Given the description of an element on the screen output the (x, y) to click on. 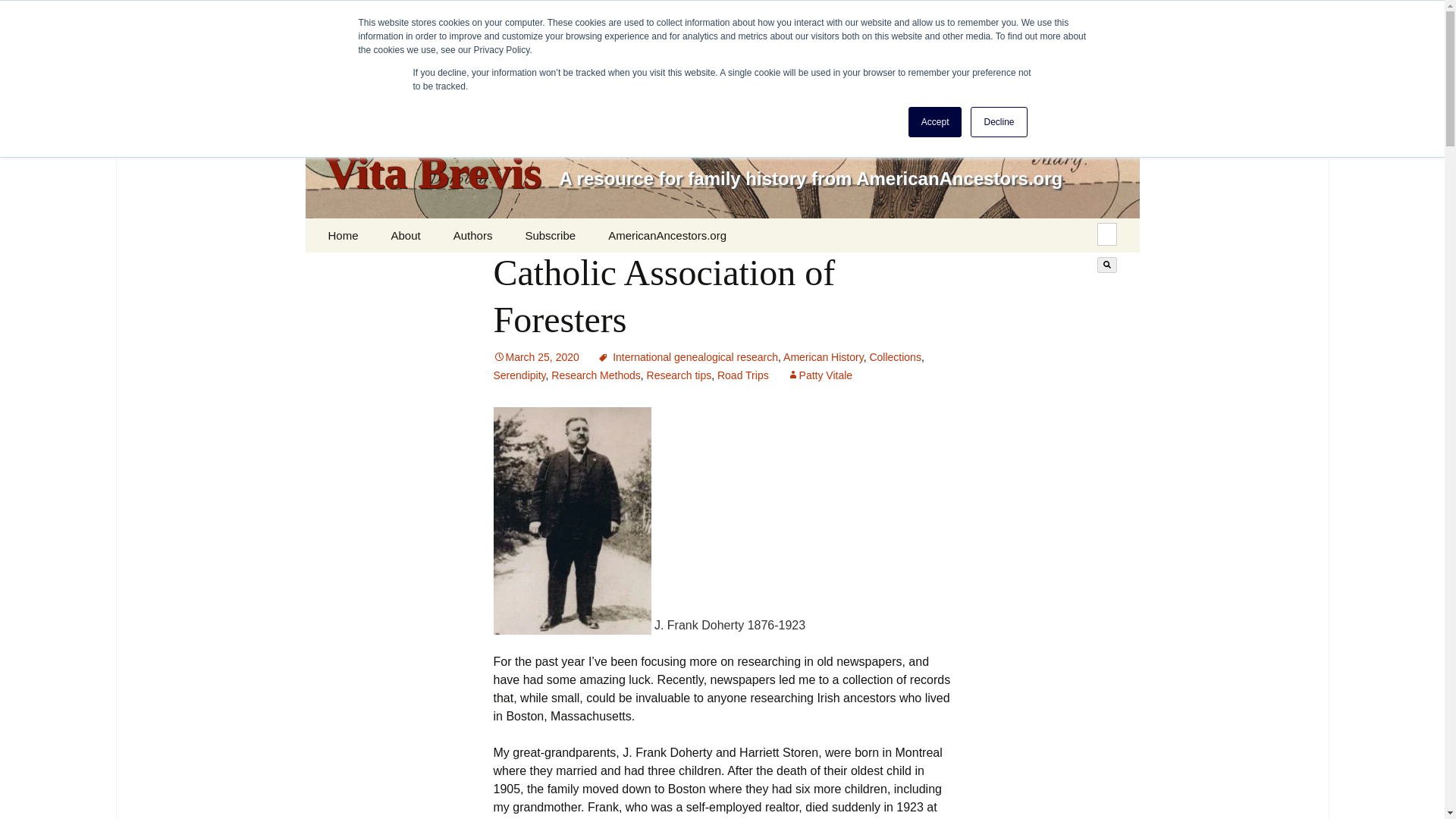
Accept (935, 122)
About (405, 235)
Authors (473, 235)
Decline (998, 122)
Home (342, 235)
